Given the description of an element on the screen output the (x, y) to click on. 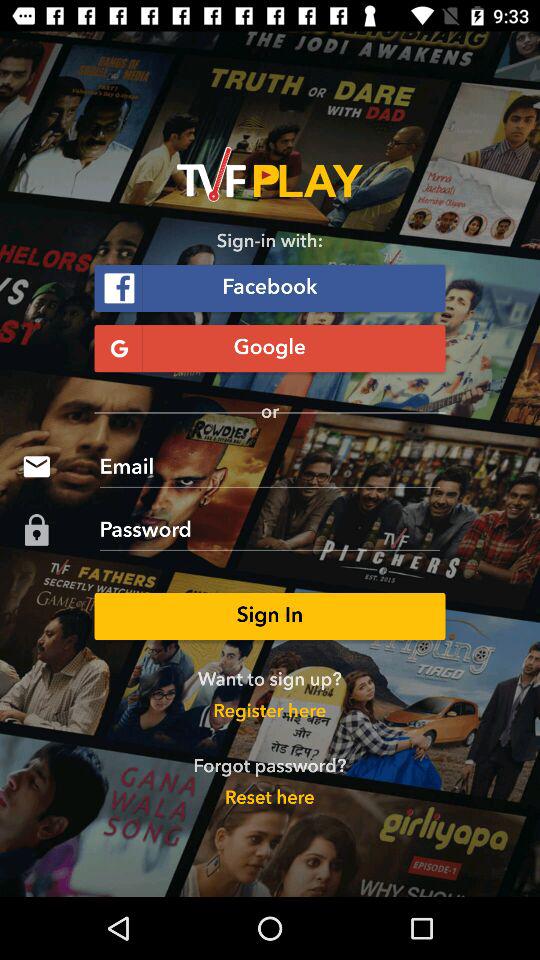
select the item below the forgot password? item (269, 798)
